Given the description of an element on the screen output the (x, y) to click on. 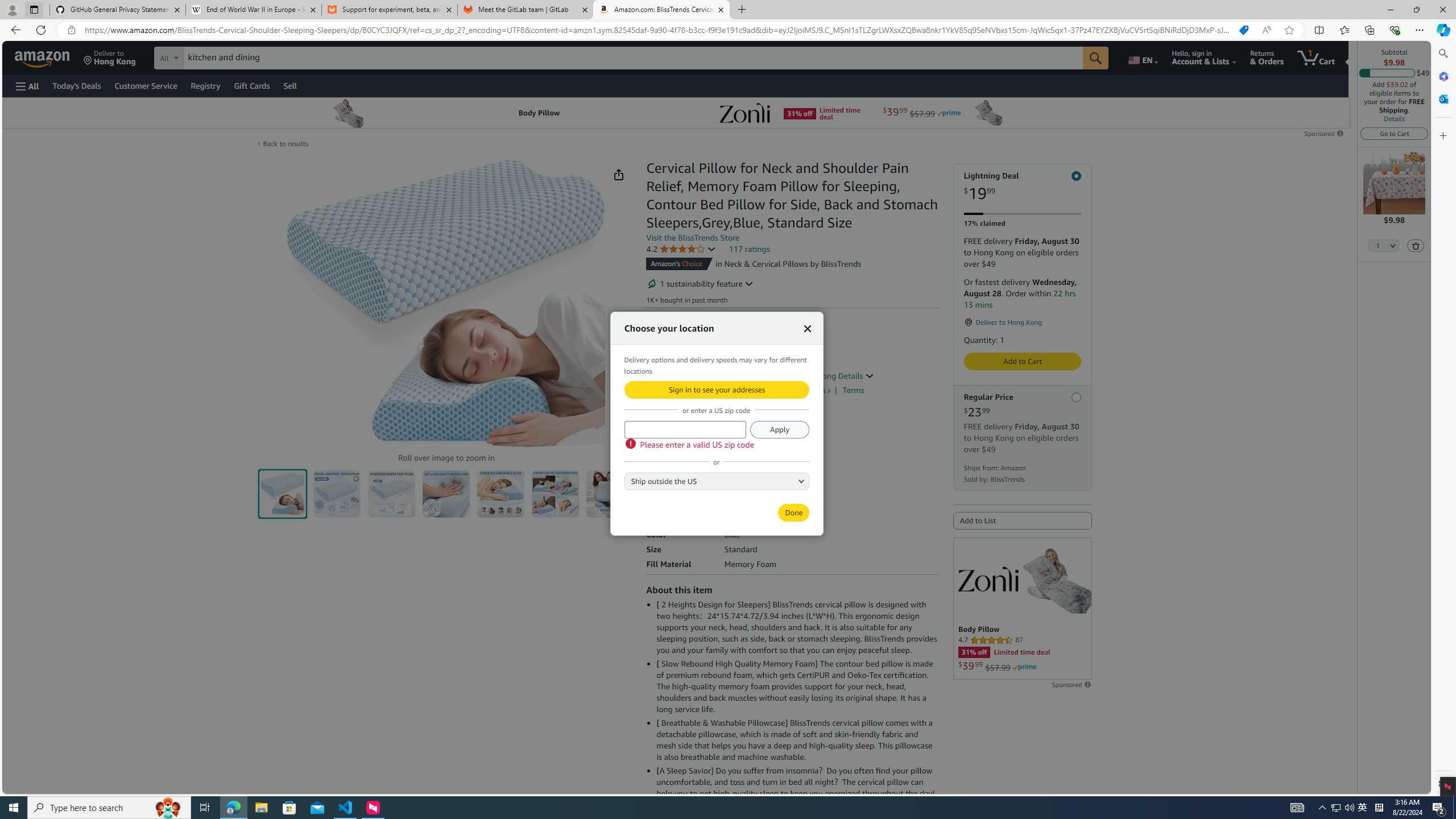
Returns & Orders (1266, 57)
Details (1393, 118)
Back to results (285, 143)
Search Amazon (633, 57)
Pink (711, 433)
You have the best price! (1243, 29)
Learn more about Amazon pricing and savings (703, 361)
